Given the description of an element on the screen output the (x, y) to click on. 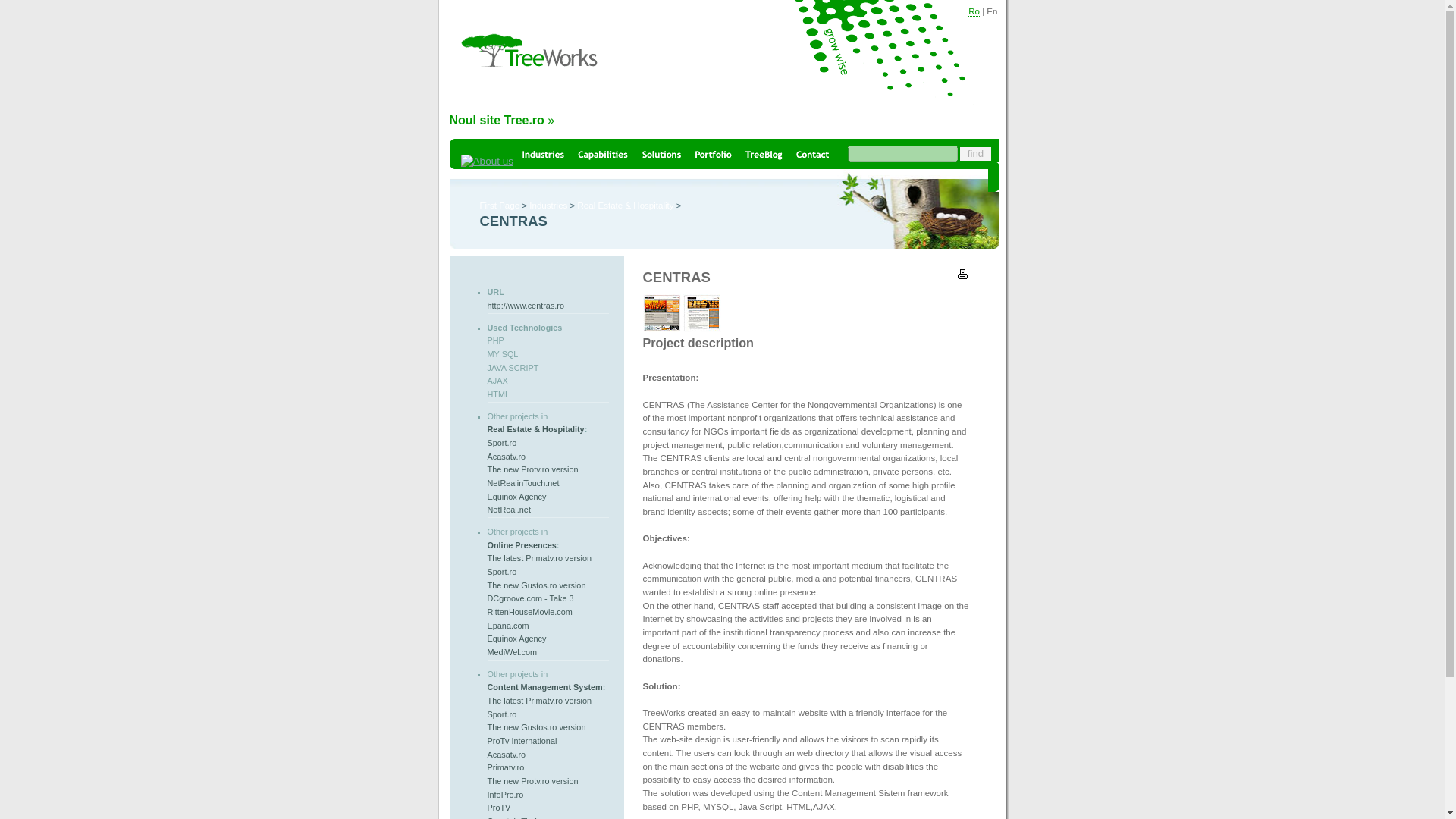
CENTRAS 2 (701, 313)
Industries (548, 204)
MediWel.com (511, 651)
Sport.ro (501, 442)
The new Protv.ro version (532, 469)
Equinox Agency (516, 637)
DCgroove.com - Take 3 (529, 597)
Primatv.ro (505, 767)
Acasatv.ro (505, 456)
Sport.ro (501, 571)
RittenHouseMovie.com (529, 611)
ProTv International (521, 740)
The new Gustos.ro version (535, 584)
Acasatv.ro (505, 754)
